Given the description of an element on the screen output the (x, y) to click on. 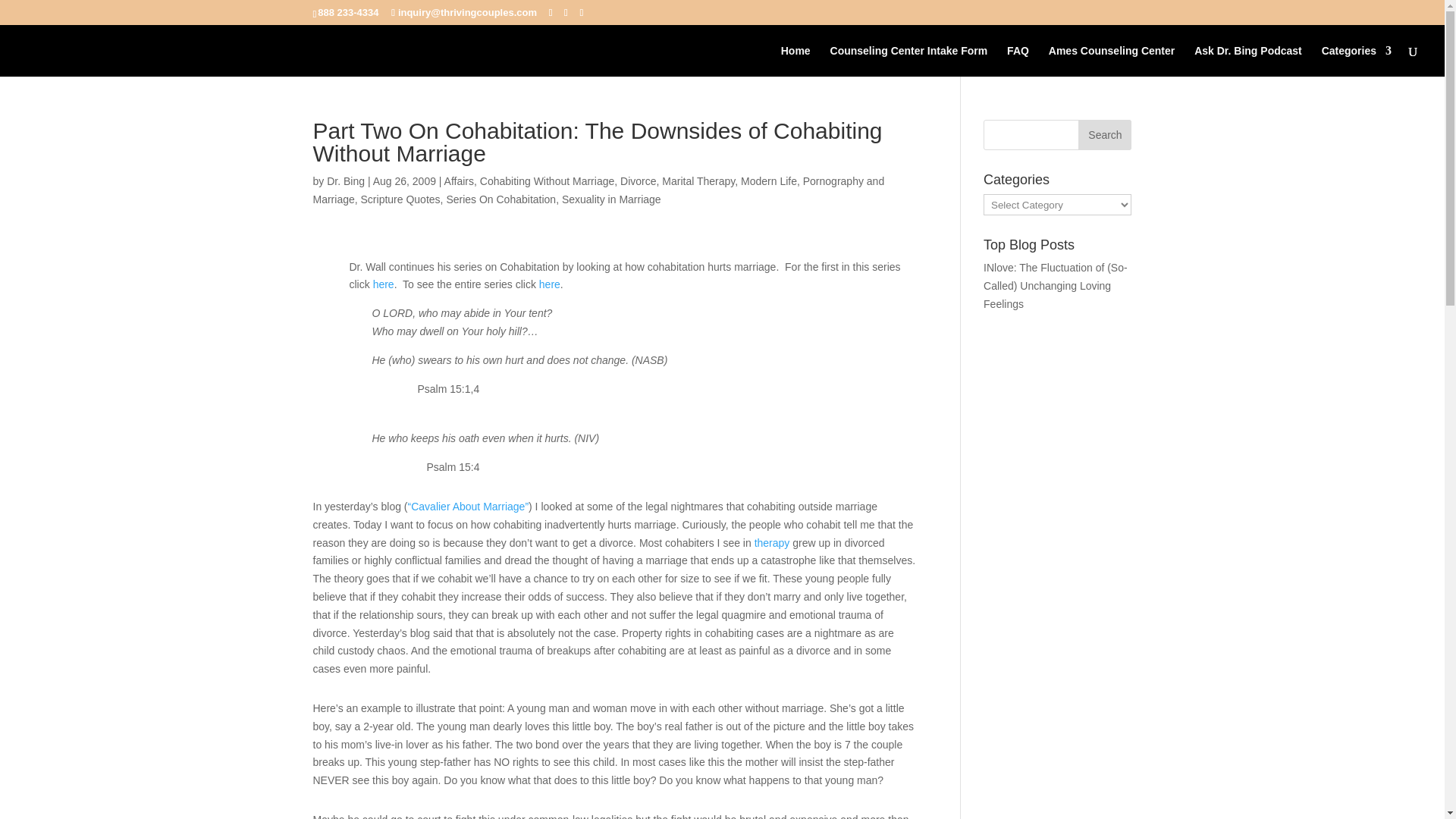
Home (795, 60)
Ask Dr. Bing Podcast (1247, 60)
Posts by Dr. Bing (345, 181)
Search (1104, 134)
Counseling Center Intake Form (908, 60)
Categories (1356, 60)
Ames Counseling Center (1111, 60)
